Given the description of an element on the screen output the (x, y) to click on. 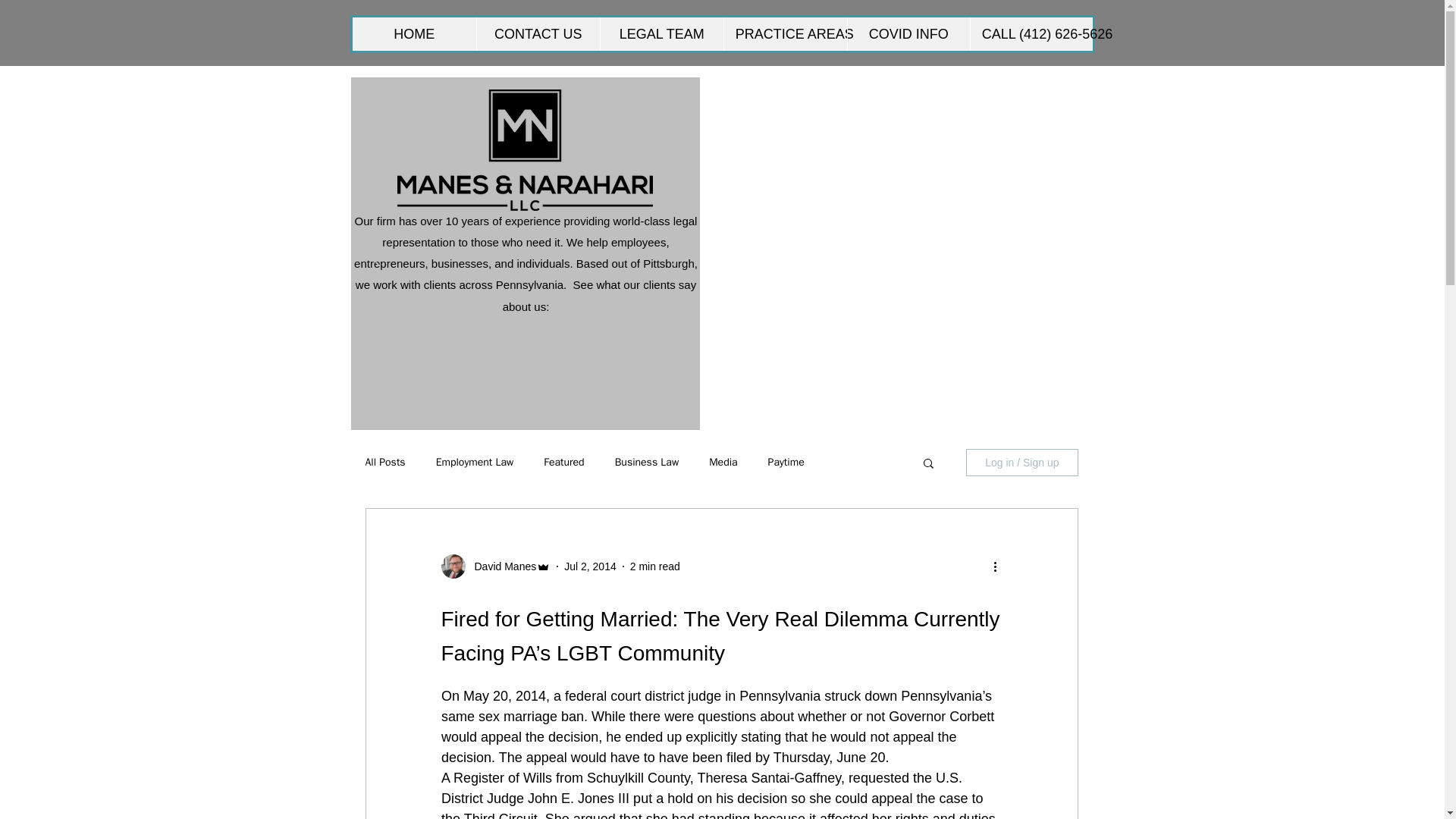
Jul 2, 2014 (589, 565)
2 min read (654, 565)
Paytime (786, 462)
Featured (563, 462)
Media (722, 462)
LEGAL TEAM (661, 33)
Business Law (646, 462)
CONTACT US (537, 33)
COVID INFO (908, 33)
All Posts (385, 462)
